Given the description of an element on the screen output the (x, y) to click on. 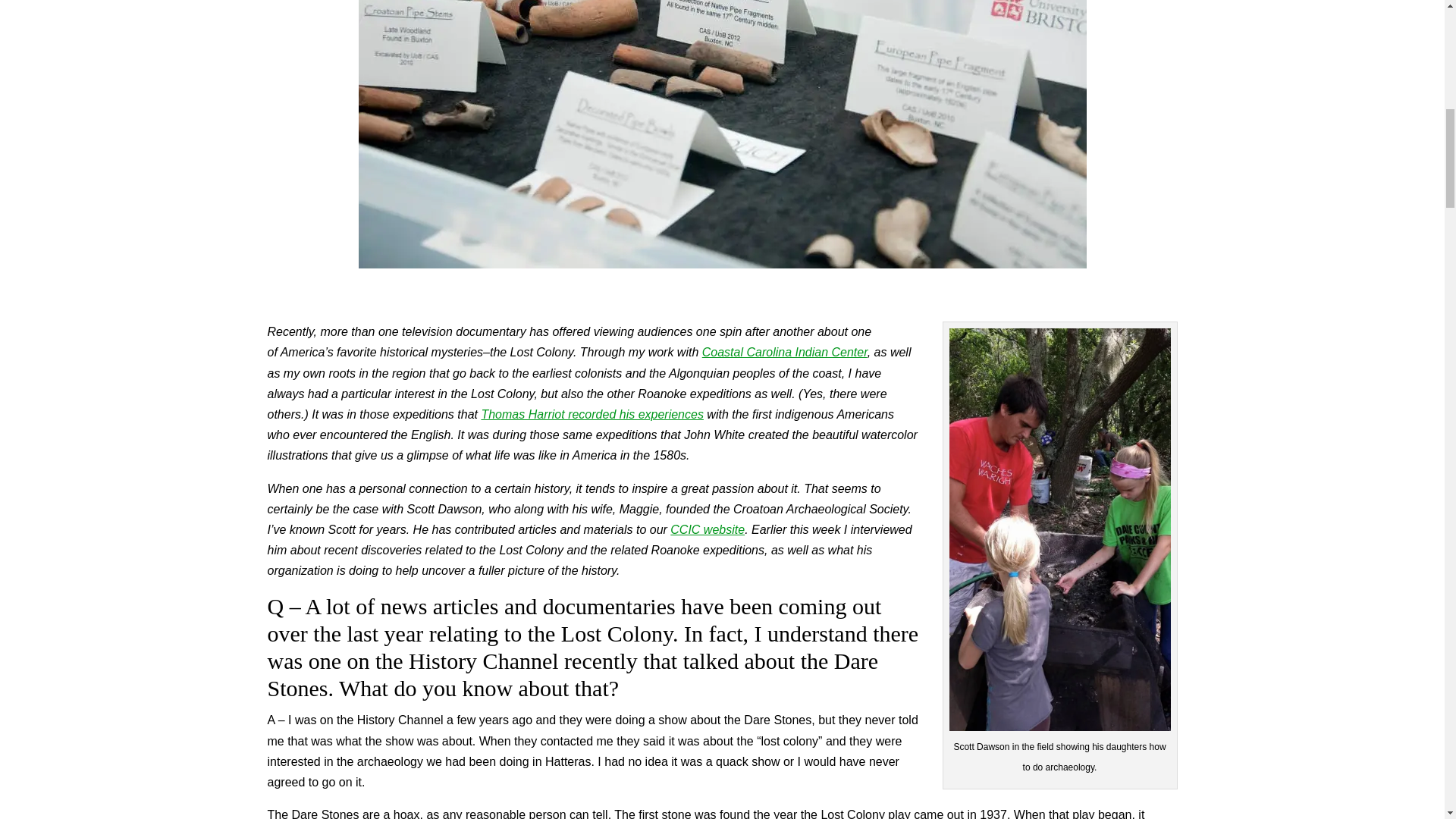
Coastal Carolina Indian Center (784, 351)
Thomas Harriot recorded his experiences (591, 413)
CCIC website (706, 529)
